Given the description of an element on the screen output the (x, y) to click on. 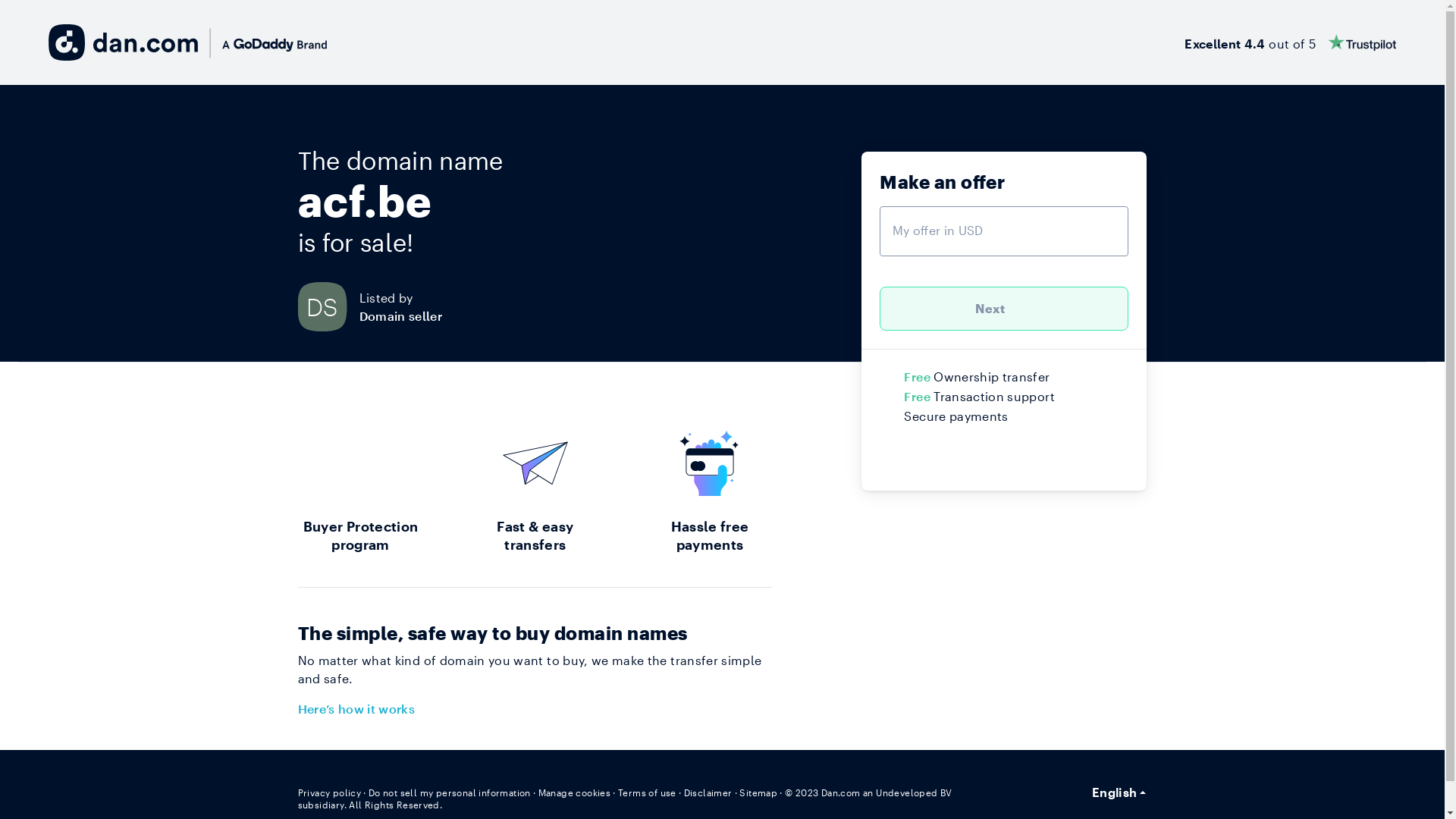
Terms of use Element type: text (647, 792)
Disclaimer Element type: text (708, 792)
Sitemap Element type: text (758, 792)
English Element type: text (1119, 792)
Privacy policy Element type: text (328, 792)
Do not sell my personal information Element type: text (449, 792)
Excellent 4.4 out of 5 Element type: text (1290, 42)
Next
) Element type: text (1003, 308)
Manage cookies Element type: text (574, 792)
